Given the description of an element on the screen output the (x, y) to click on. 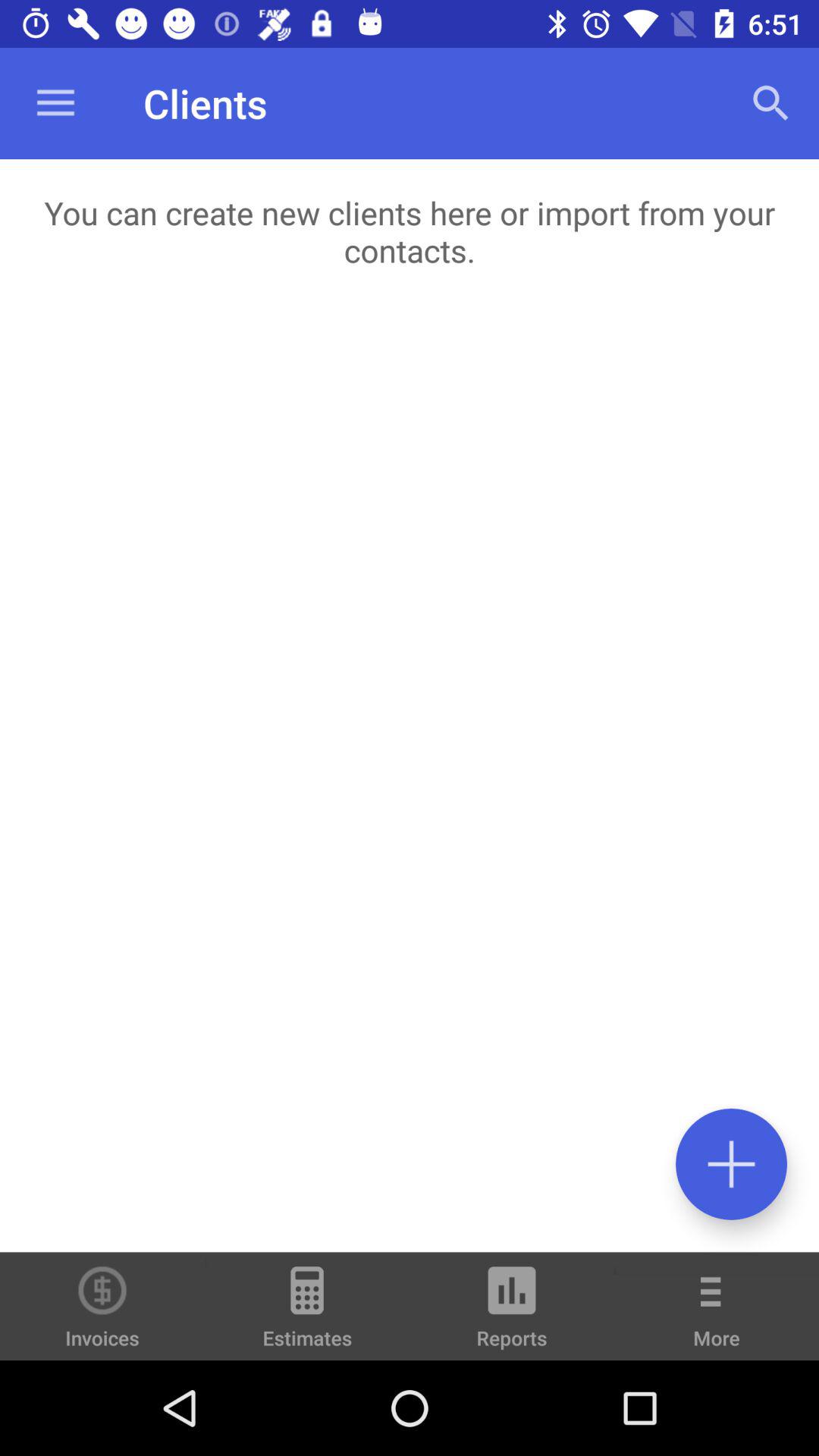
press icon to the right of the clients (771, 103)
